Given the description of an element on the screen output the (x, y) to click on. 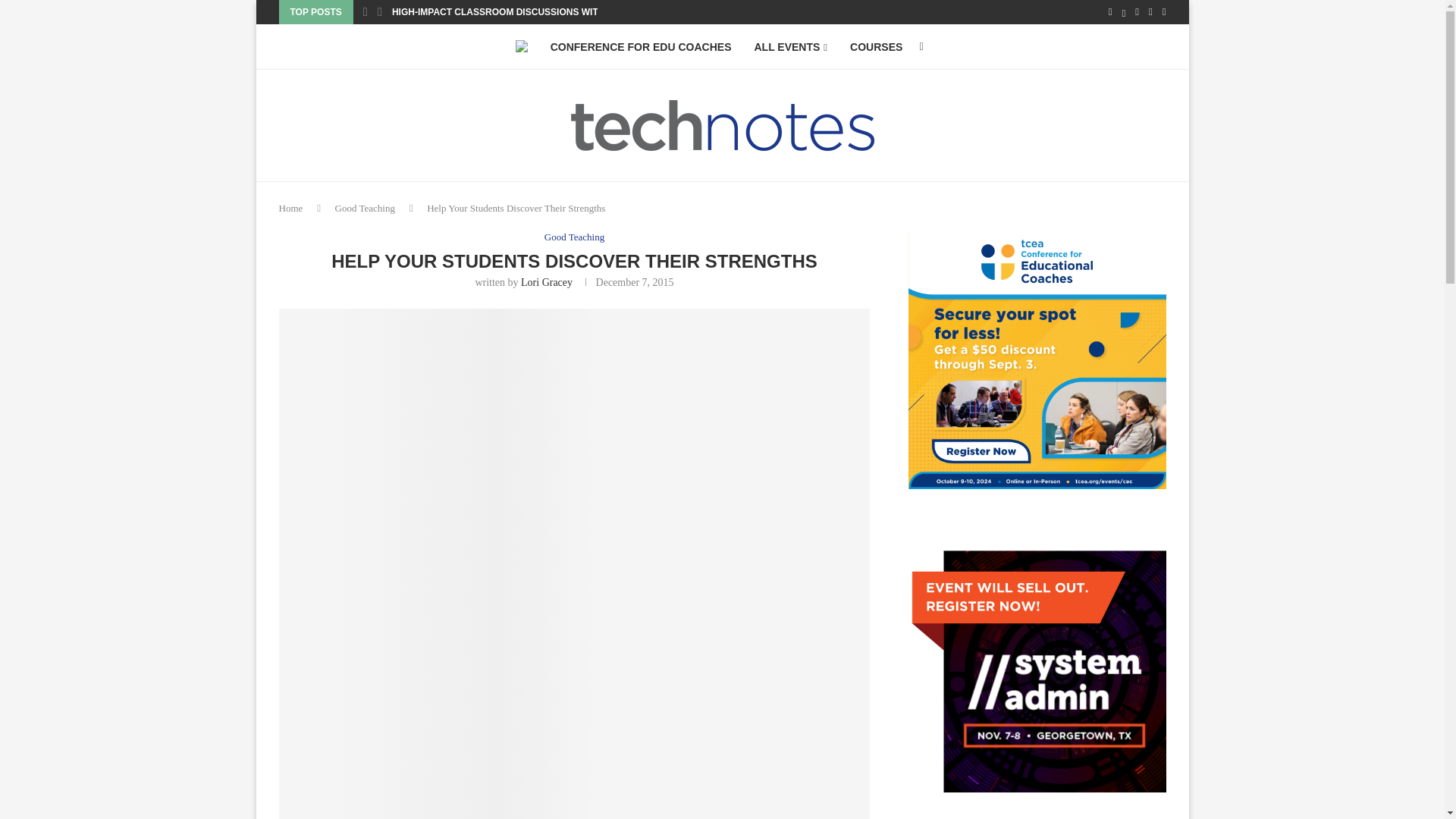
Lori Gracey (546, 282)
Good Teaching (364, 207)
COURSES (876, 46)
HIGH-IMPACT CLASSROOM DISCUSSIONS WITH GOOGLE (518, 12)
Good Teaching (574, 236)
ALL EVENTS (790, 47)
CONFERENCE FOR EDU COACHES (641, 46)
Home (290, 207)
